Given the description of an element on the screen output the (x, y) to click on. 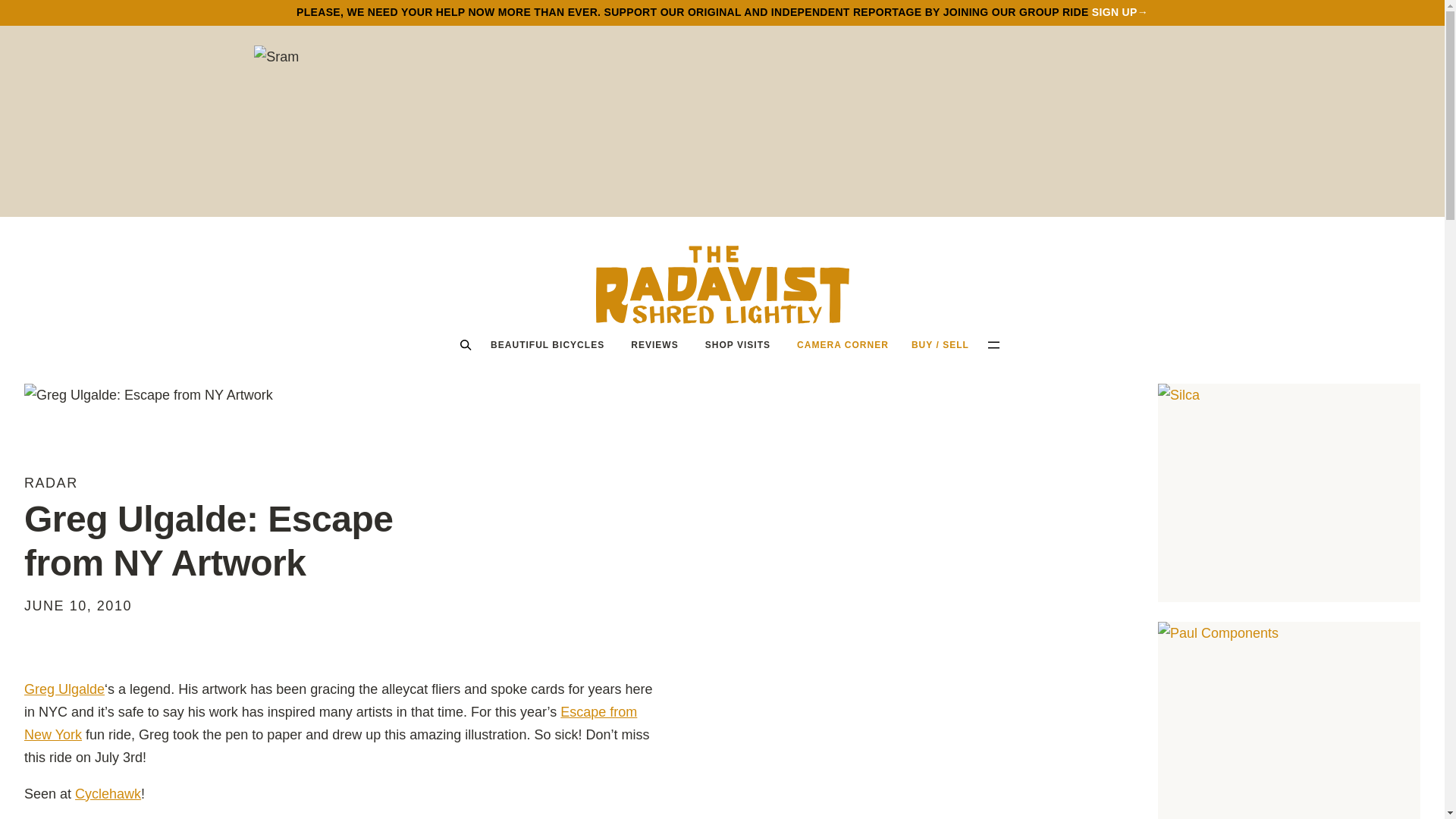
CAMERA CORNER (842, 344)
The Radavist (721, 284)
The Radavist (721, 284)
REVIEWS (654, 344)
BEAUTIFUL BICYCLES (547, 344)
Silca (1289, 492)
SHOP VISITS (737, 344)
Paul Components (1289, 720)
